Given the description of an element on the screen output the (x, y) to click on. 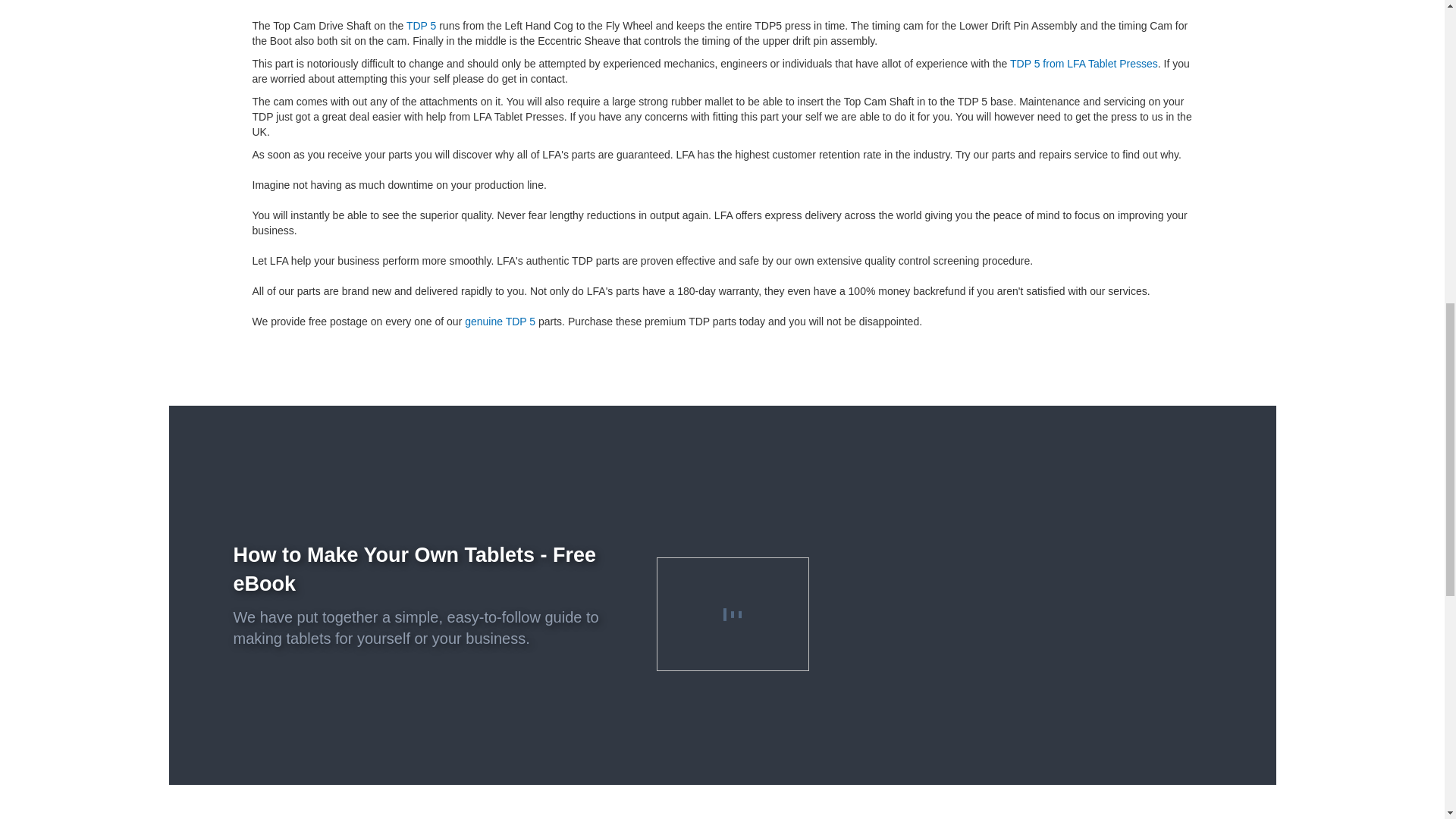
Form 0 (1021, 594)
